Given the description of an element on the screen output the (x, y) to click on. 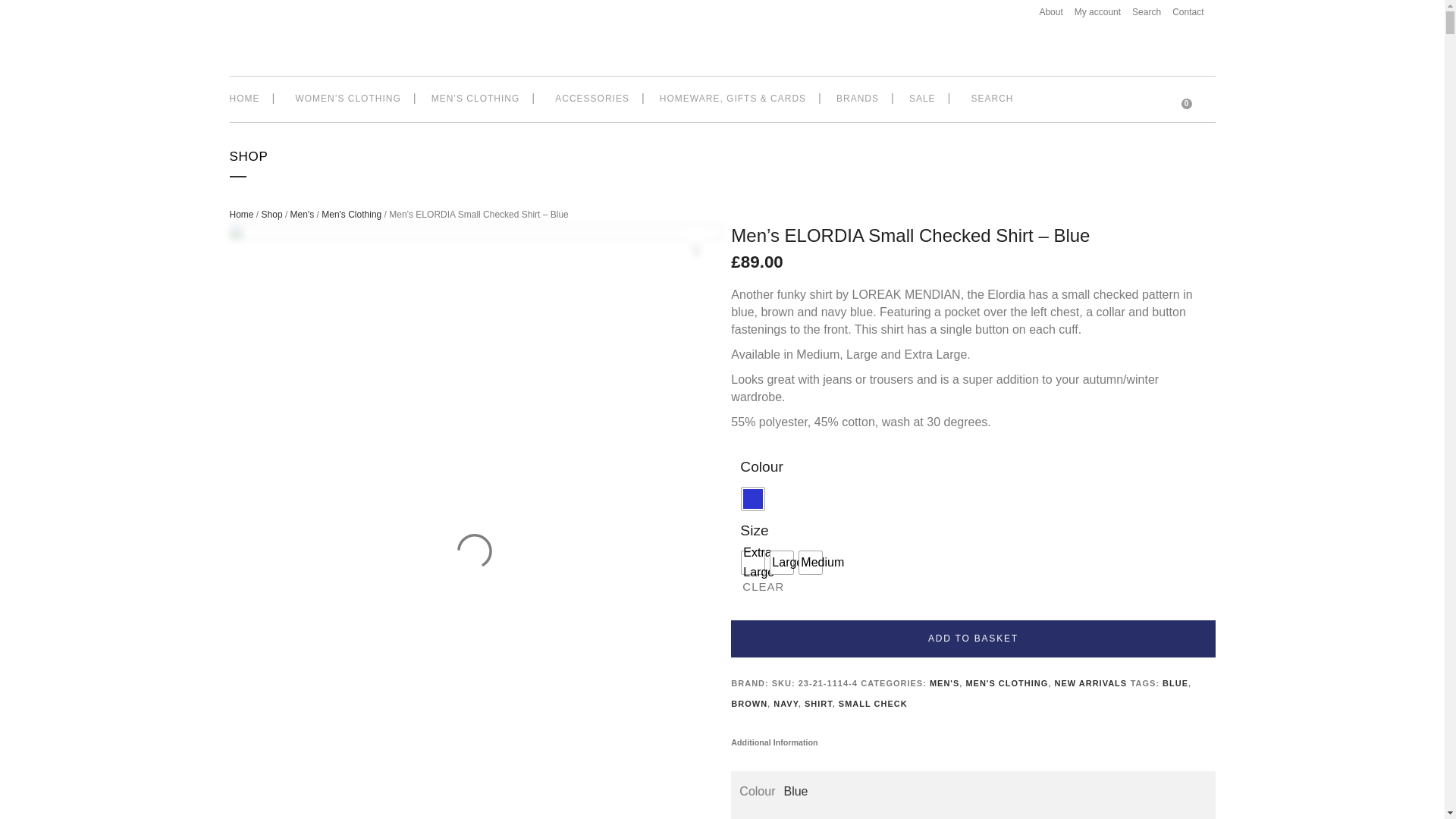
HOME (250, 98)
About (1044, 12)
Large (781, 562)
My account (1091, 12)
Blue (752, 498)
Extra Large (752, 562)
Search (1140, 12)
Contact (1182, 12)
Medium (810, 562)
ACCESSORIES (589, 98)
